Given the description of an element on the screen output the (x, y) to click on. 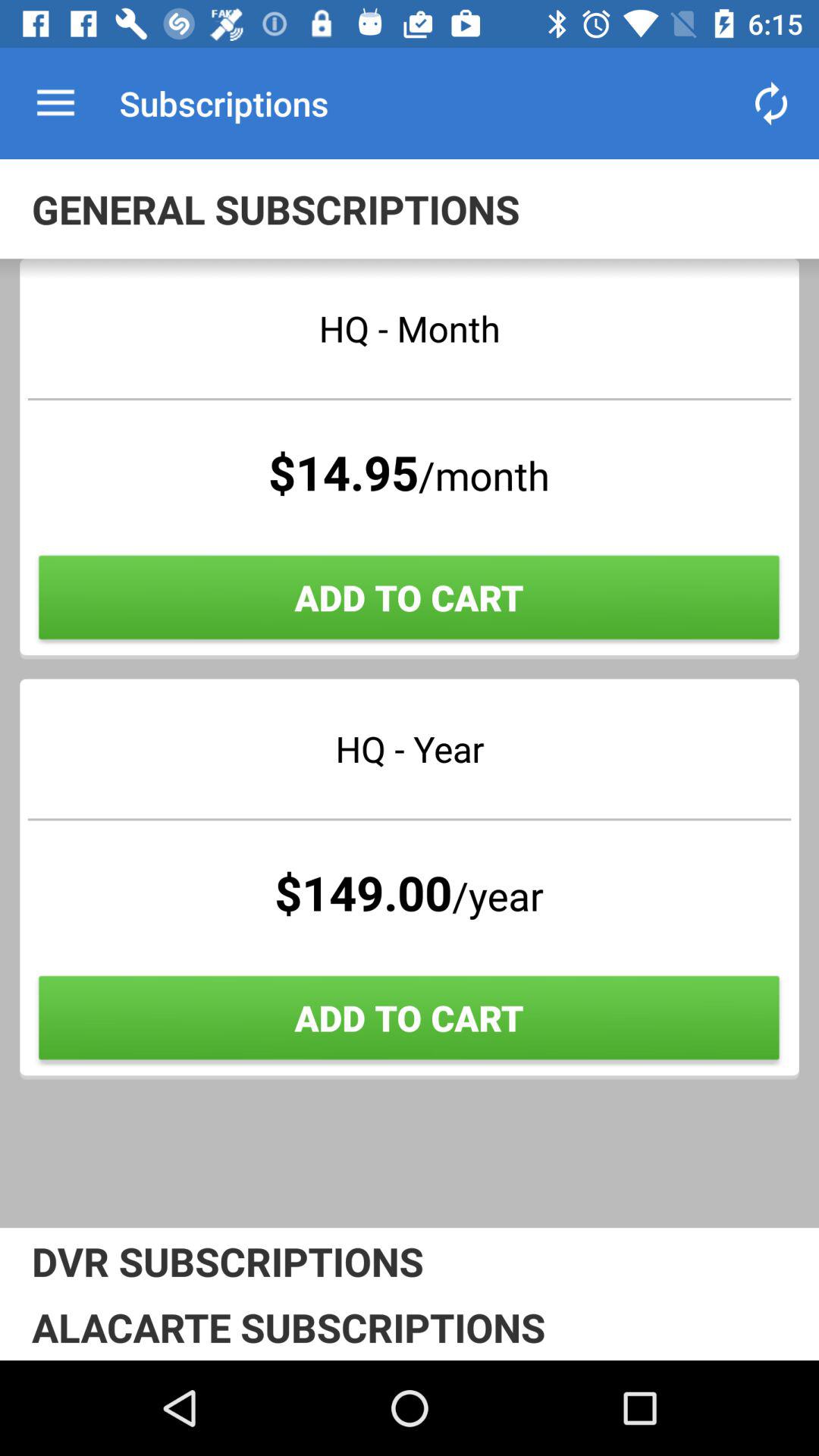
turn off the item above general subscriptions icon (55, 103)
